Given the description of an element on the screen output the (x, y) to click on. 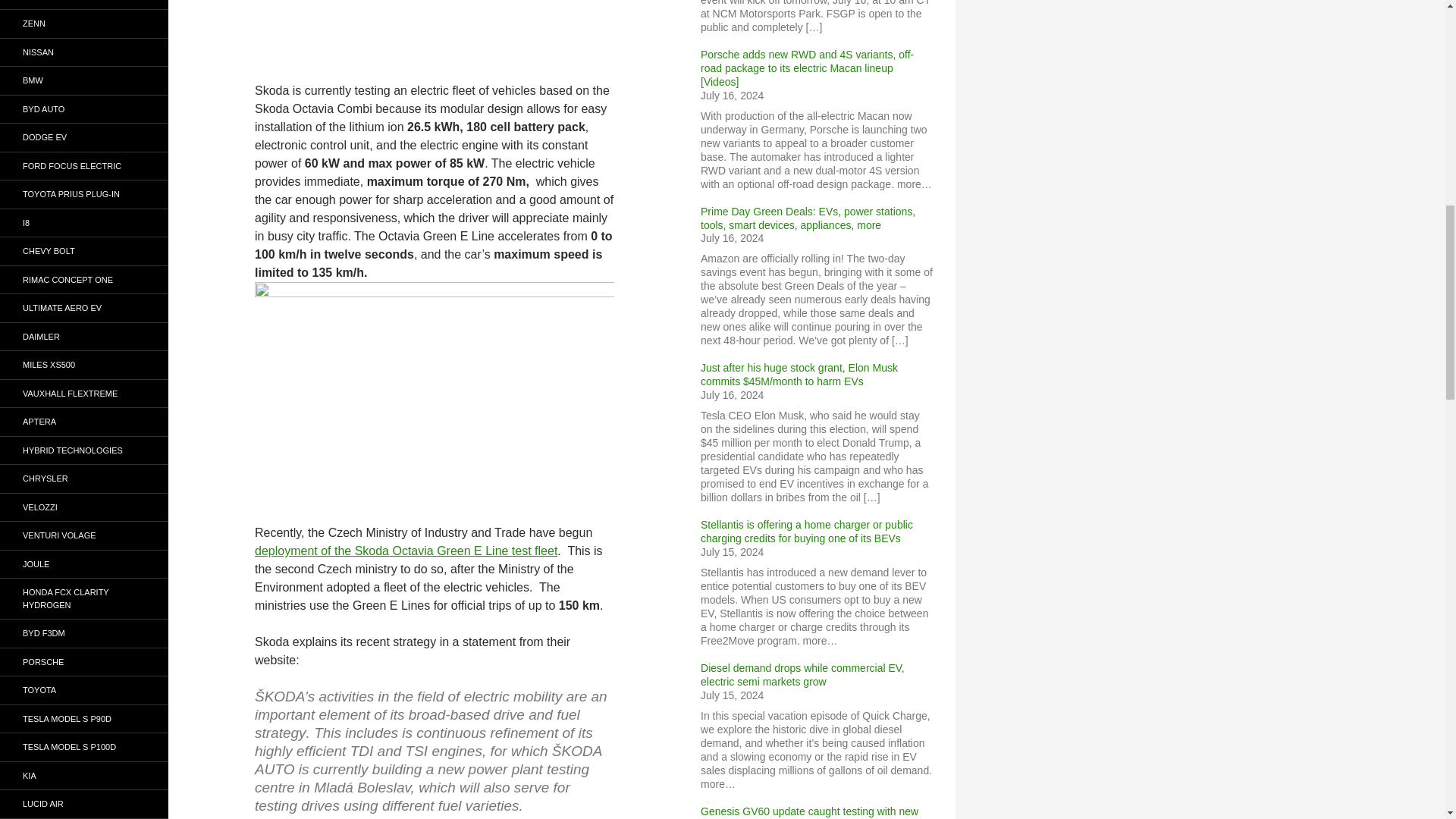
Skoda Octavia green e line (434, 393)
deployment of the Skoda Octavia Green E Line test fleet (405, 550)
